Given the description of an element on the screen output the (x, y) to click on. 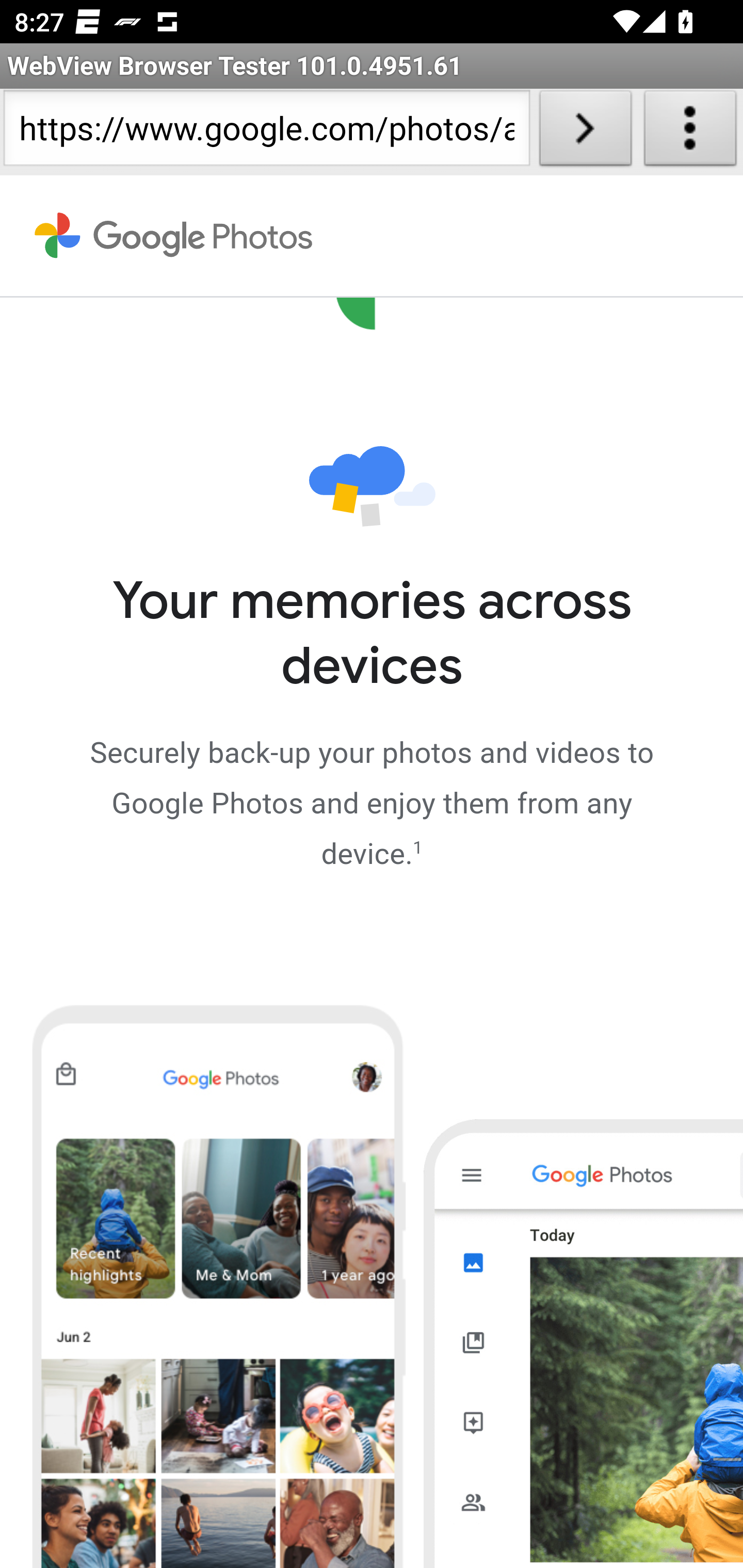
https://www.google.com/photos/about/ (266, 132)
Load URL (585, 132)
About WebView (690, 132)
Google Photos (174, 236)
